Given the description of an element on the screen output the (x, y) to click on. 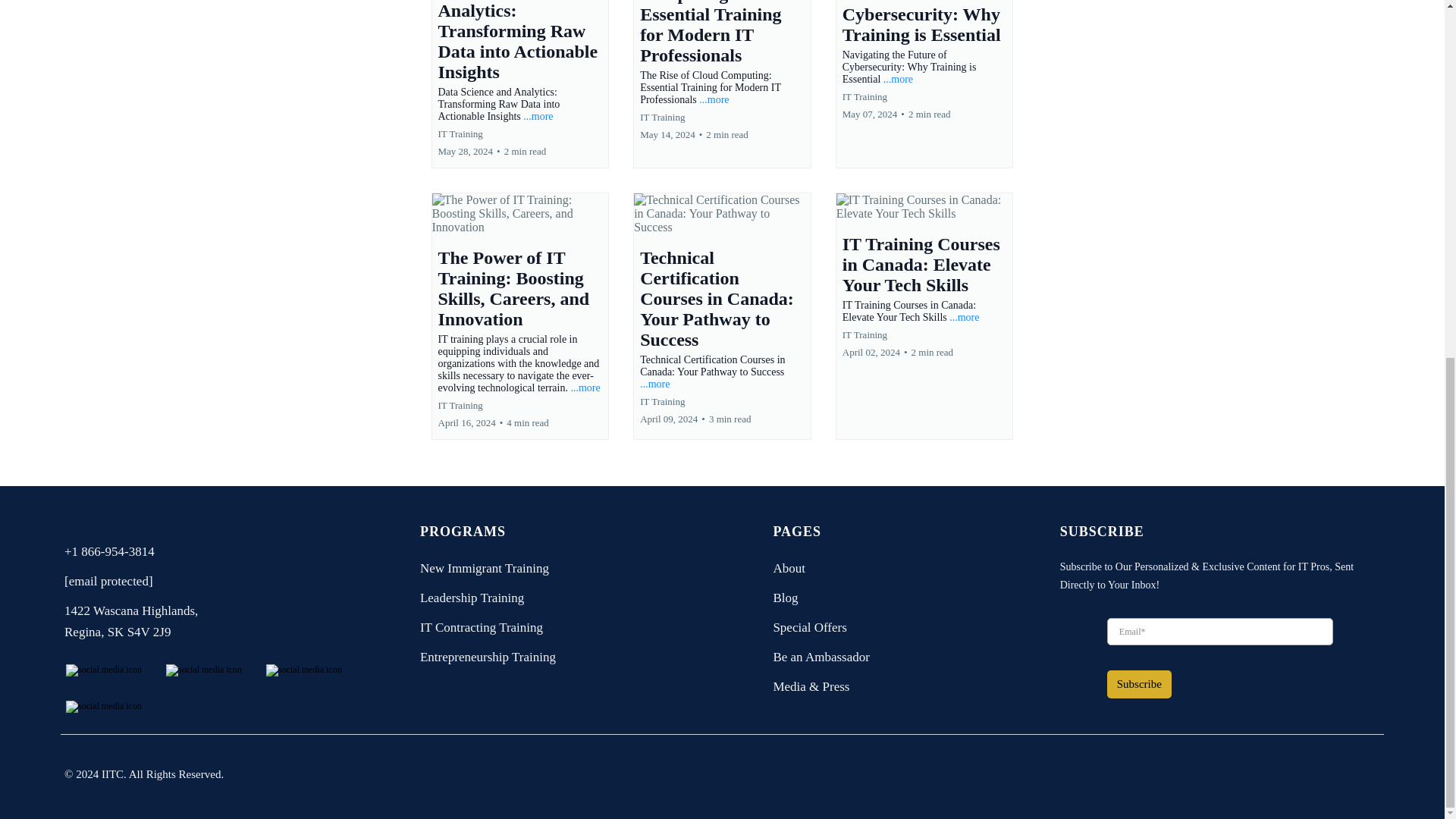
...more (537, 116)
